Given the description of an element on the screen output the (x, y) to click on. 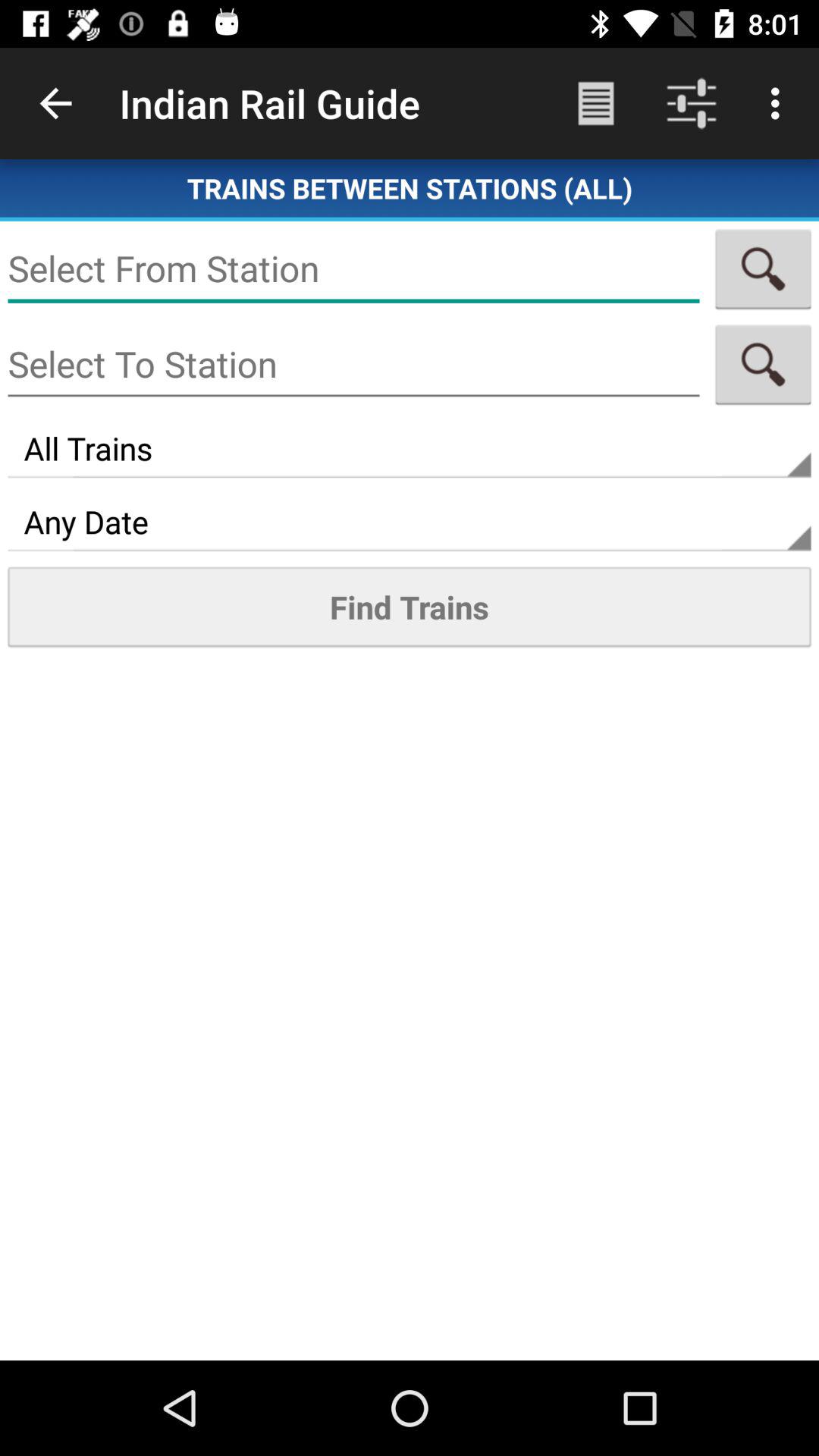
search stations (763, 364)
